Given the description of an element on the screen output the (x, y) to click on. 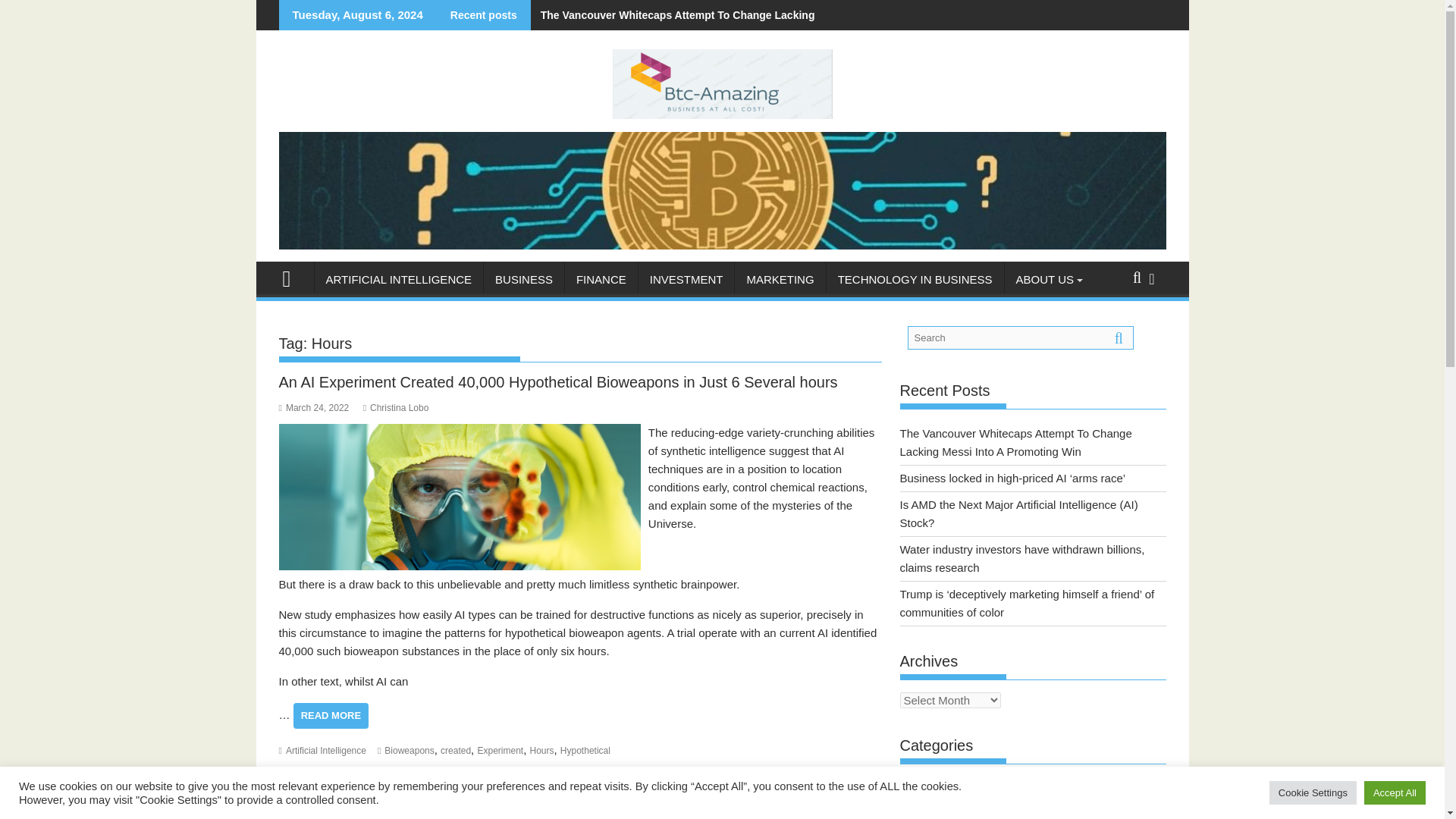
FINANCE (600, 279)
March 24, 2022 (314, 407)
BUSINESS (523, 279)
Christina Lobo (395, 407)
ARTIFICIAL INTELLIGENCE (398, 279)
MARKETING (780, 279)
TECHNOLOGY IN BUSINESS (915, 279)
Btc-Amazing (293, 276)
